Given the description of an element on the screen output the (x, y) to click on. 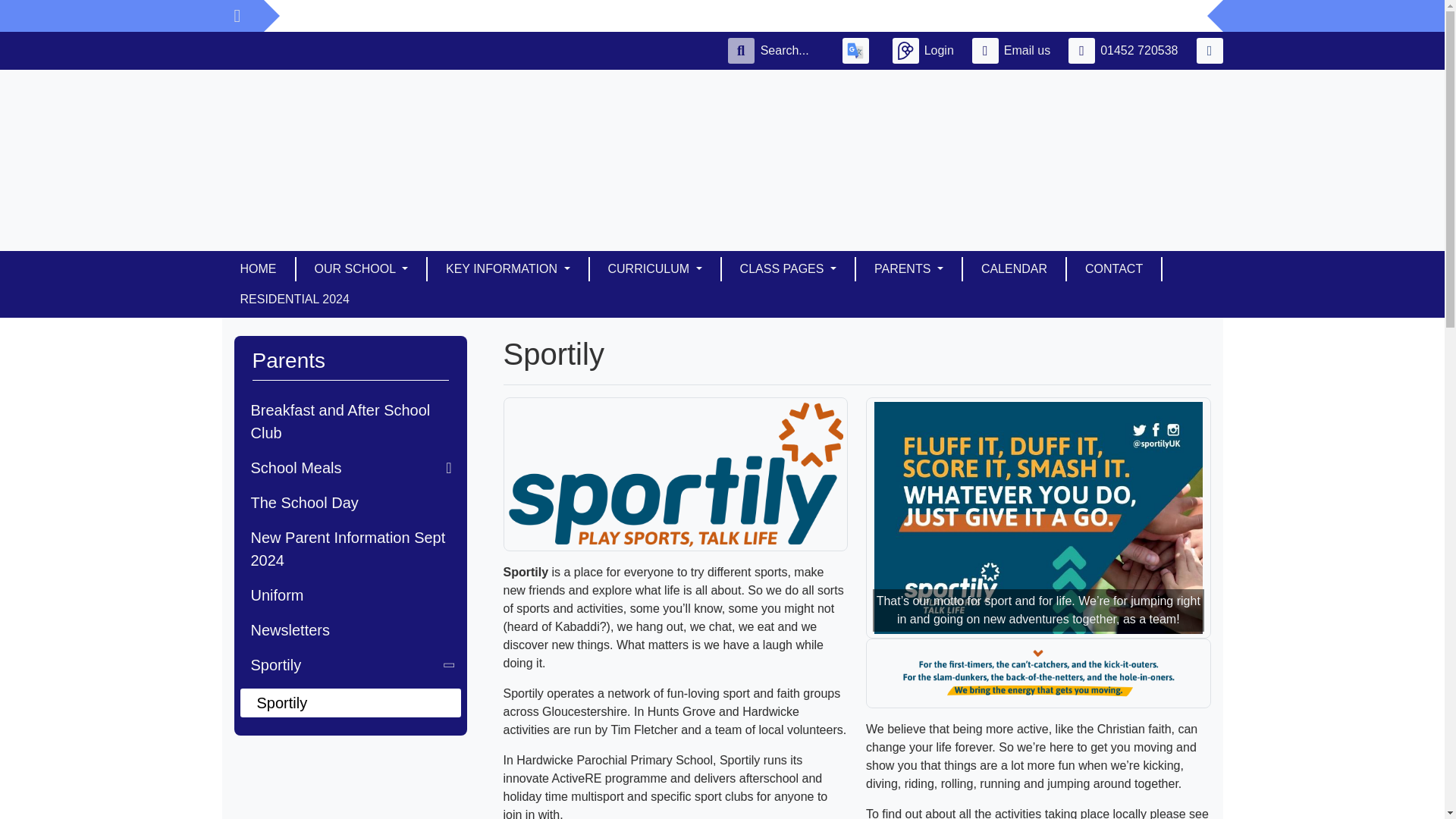
Login (925, 50)
01452 720538 (1125, 50)
Email us (1014, 50)
